Given the description of an element on the screen output the (x, y) to click on. 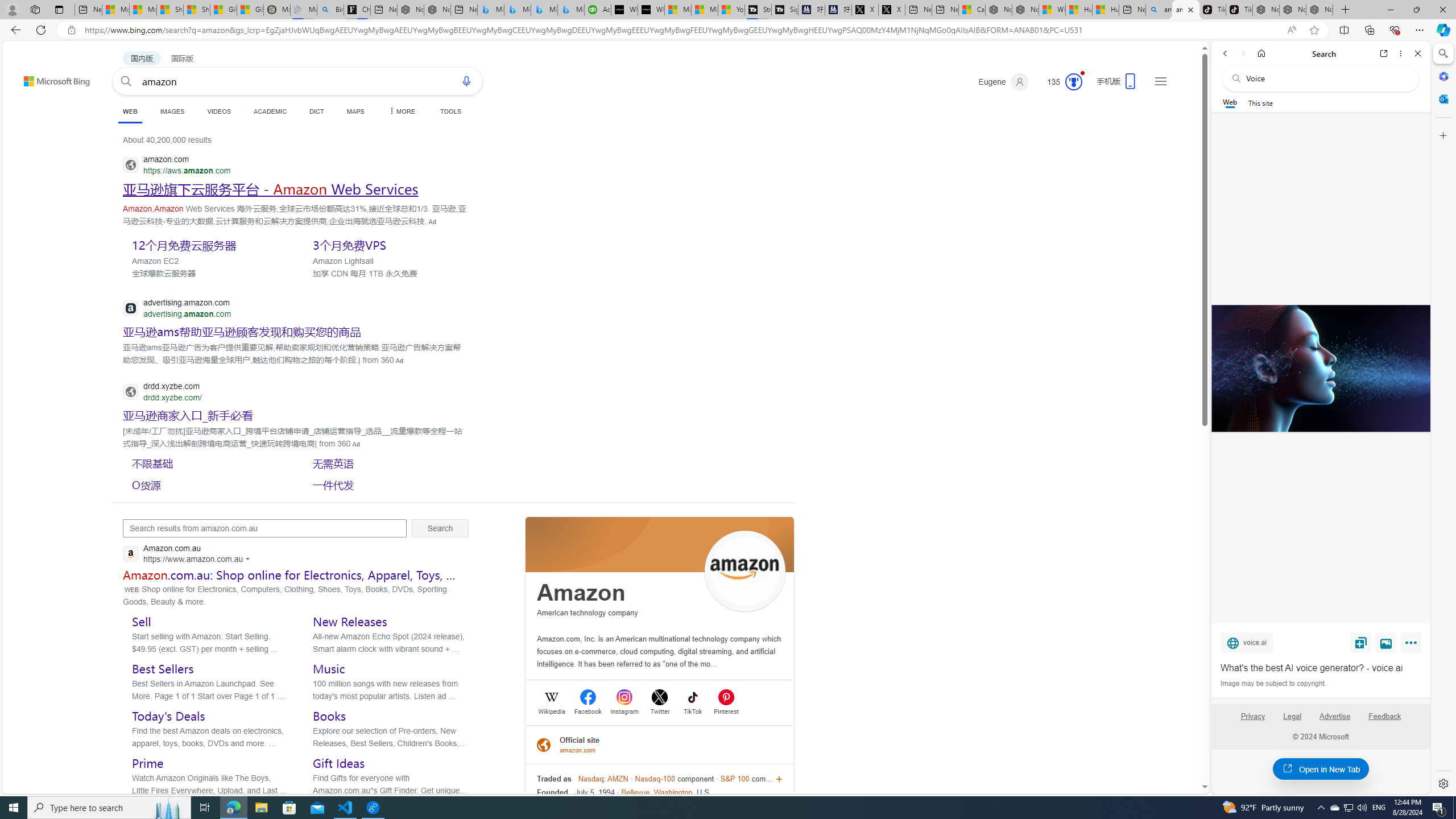
Today's Deals (168, 715)
WEB (129, 112)
Legal (1292, 720)
New Releases (350, 621)
MORE (400, 111)
TOOLS (450, 111)
Instagram (624, 710)
Accounting Software for Accountants, CPAs and Bookkeepers (597, 9)
SERP,5547 (270, 189)
Prime (147, 762)
